Given the description of an element on the screen output the (x, y) to click on. 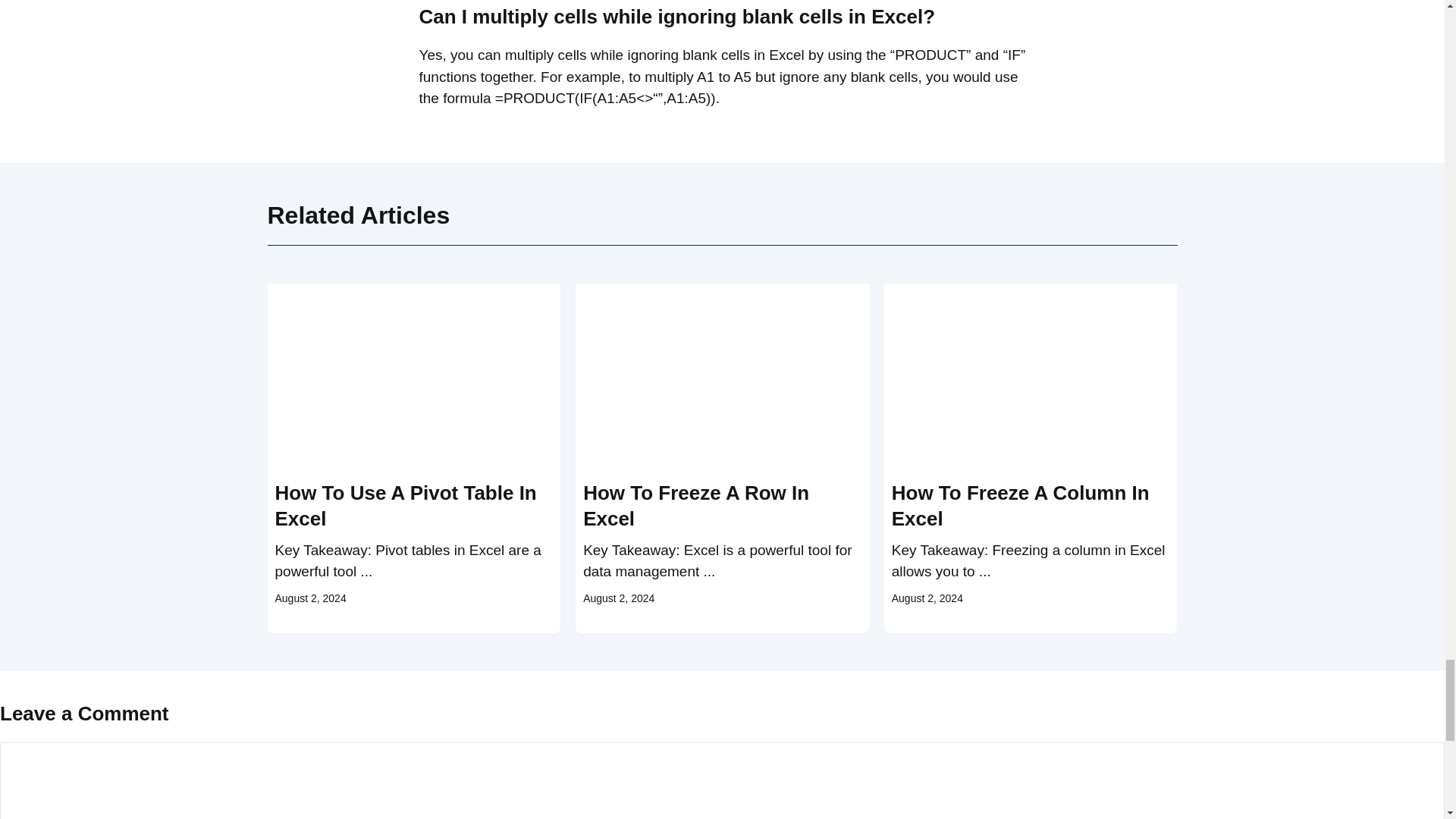
How To Use A Pivot Table In Excel (405, 505)
How To Freeze A Row In Excel (696, 505)
How To Freeze A Column In Excel (1020, 505)
